Given the description of an element on the screen output the (x, y) to click on. 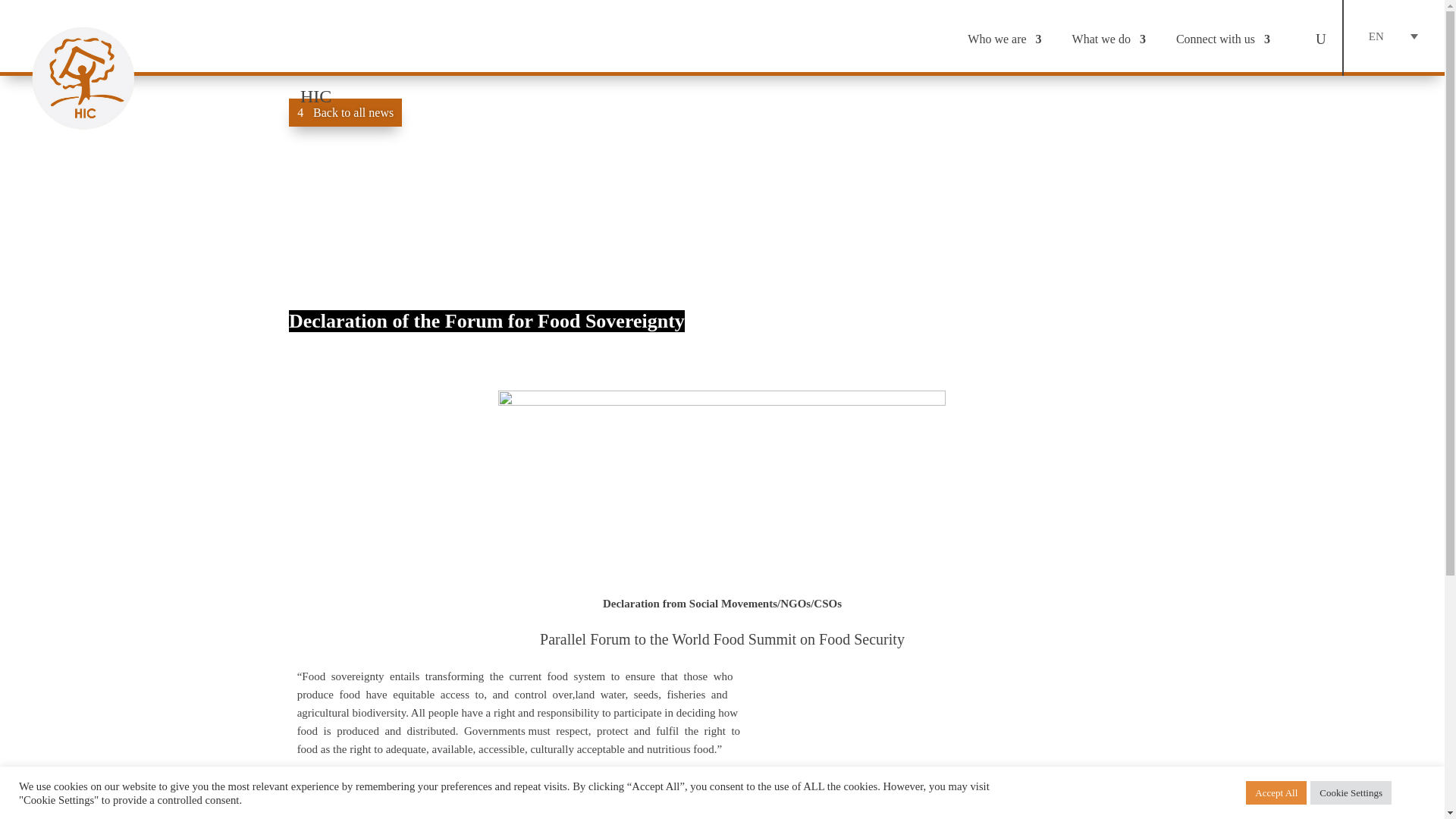
What we do (1108, 38)
Who we are (1004, 38)
Connect with us (1222, 38)
